Given the description of an element on the screen output the (x, y) to click on. 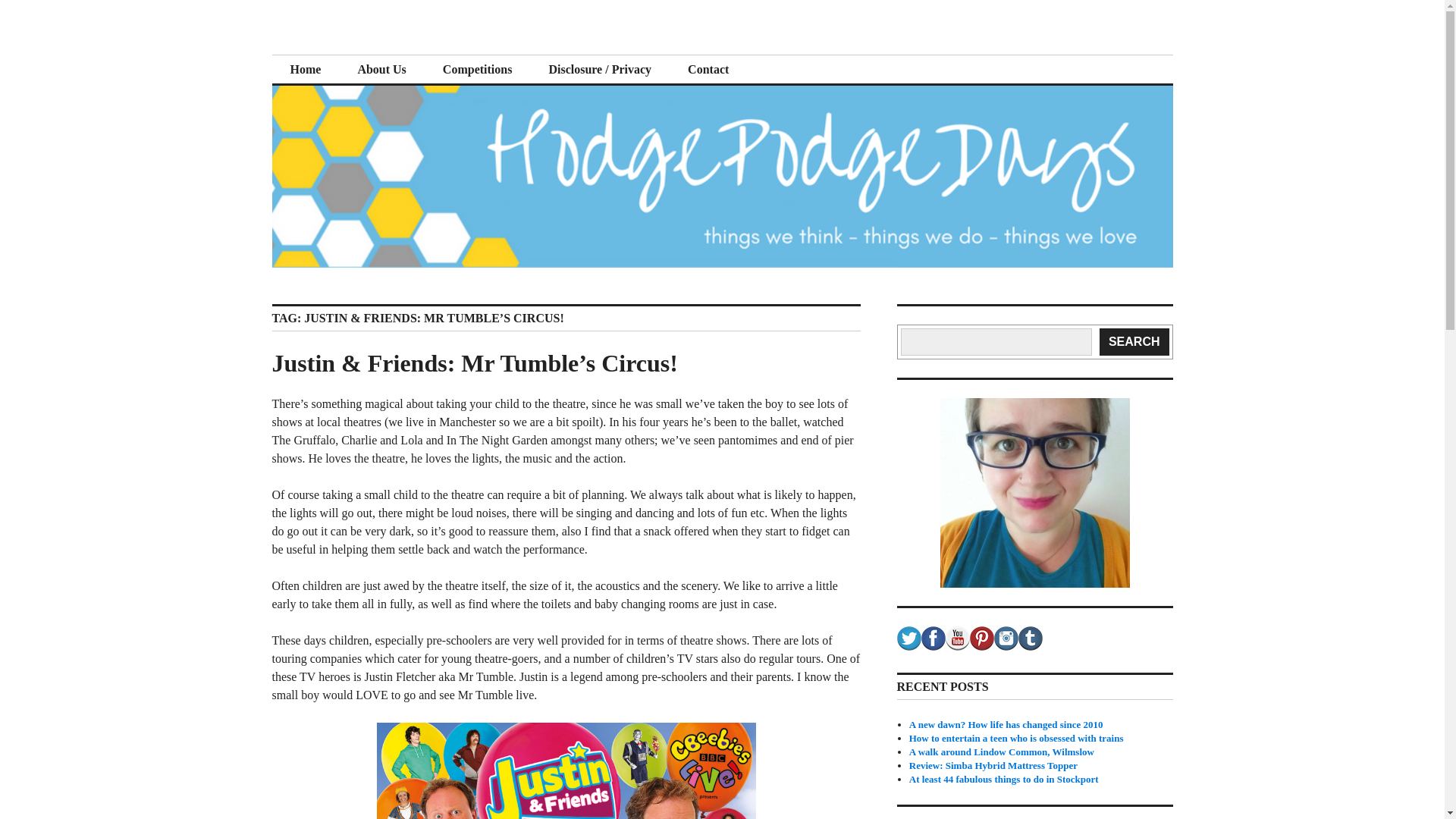
HodgePodgeDays (384, 53)
Home (304, 69)
Competitions (478, 69)
At least 44 fabulous things to do in Stockport (1003, 778)
About Us (381, 69)
A new dawn? How life has changed since 2010 (1005, 724)
How to entertain a teen who is obsessed with trains (1016, 737)
Review: Simba Hybrid Mattress Topper (992, 765)
SEARCH (1134, 341)
Contact (707, 69)
A walk around Lindow Common, Wilmslow (1001, 751)
